Given the description of an element on the screen output the (x, y) to click on. 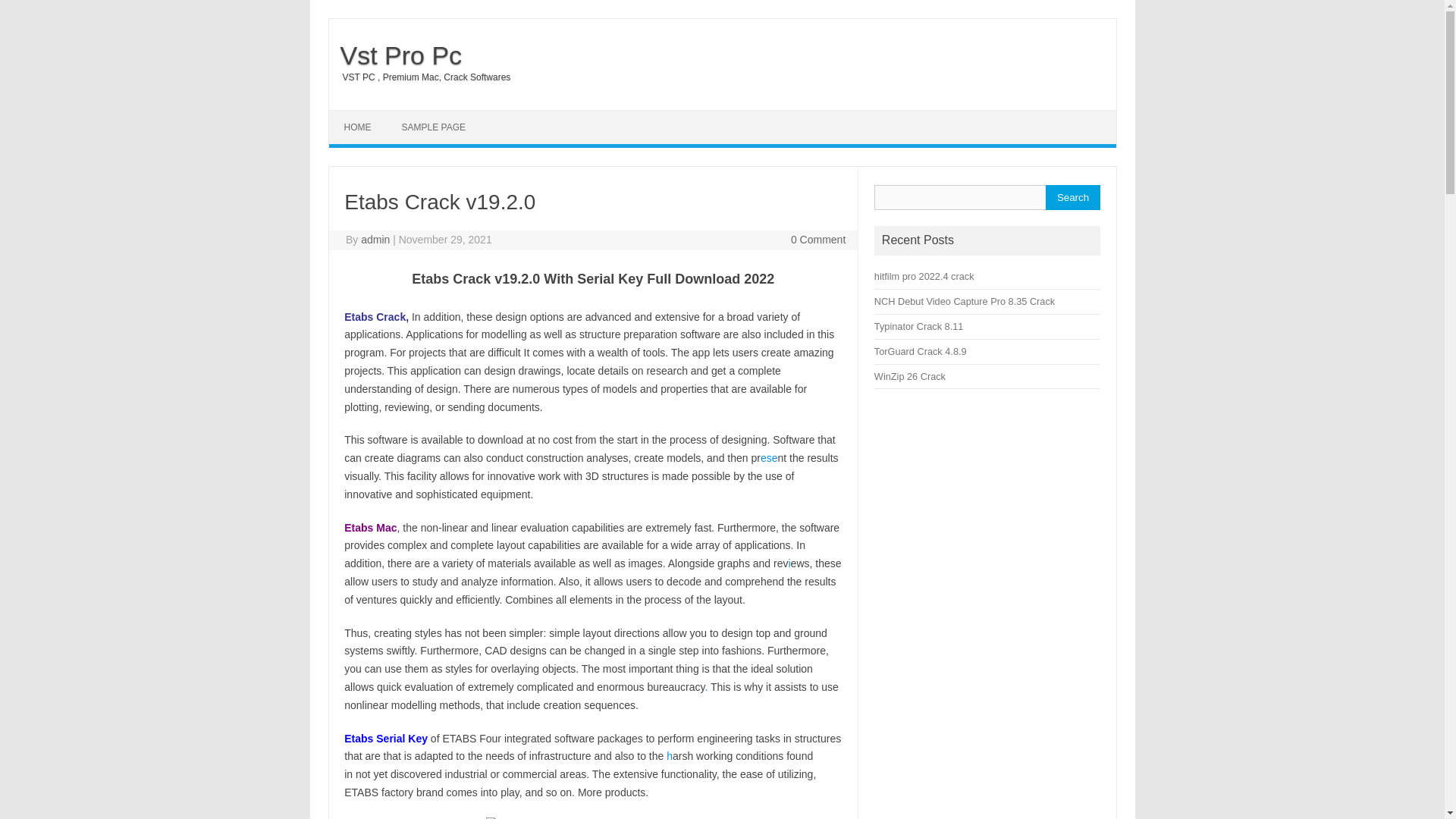
Skip to content (363, 114)
Search (1072, 197)
Vst Pro Pc (396, 54)
Etabs Crack, (376, 316)
VST PC , Premium Mac, Crack Softwares (420, 77)
ese (768, 458)
Skip to content (363, 114)
Vst Pro Pc (396, 54)
SAMPLE PAGE (433, 127)
HOME (358, 127)
